Given the description of an element on the screen output the (x, y) to click on. 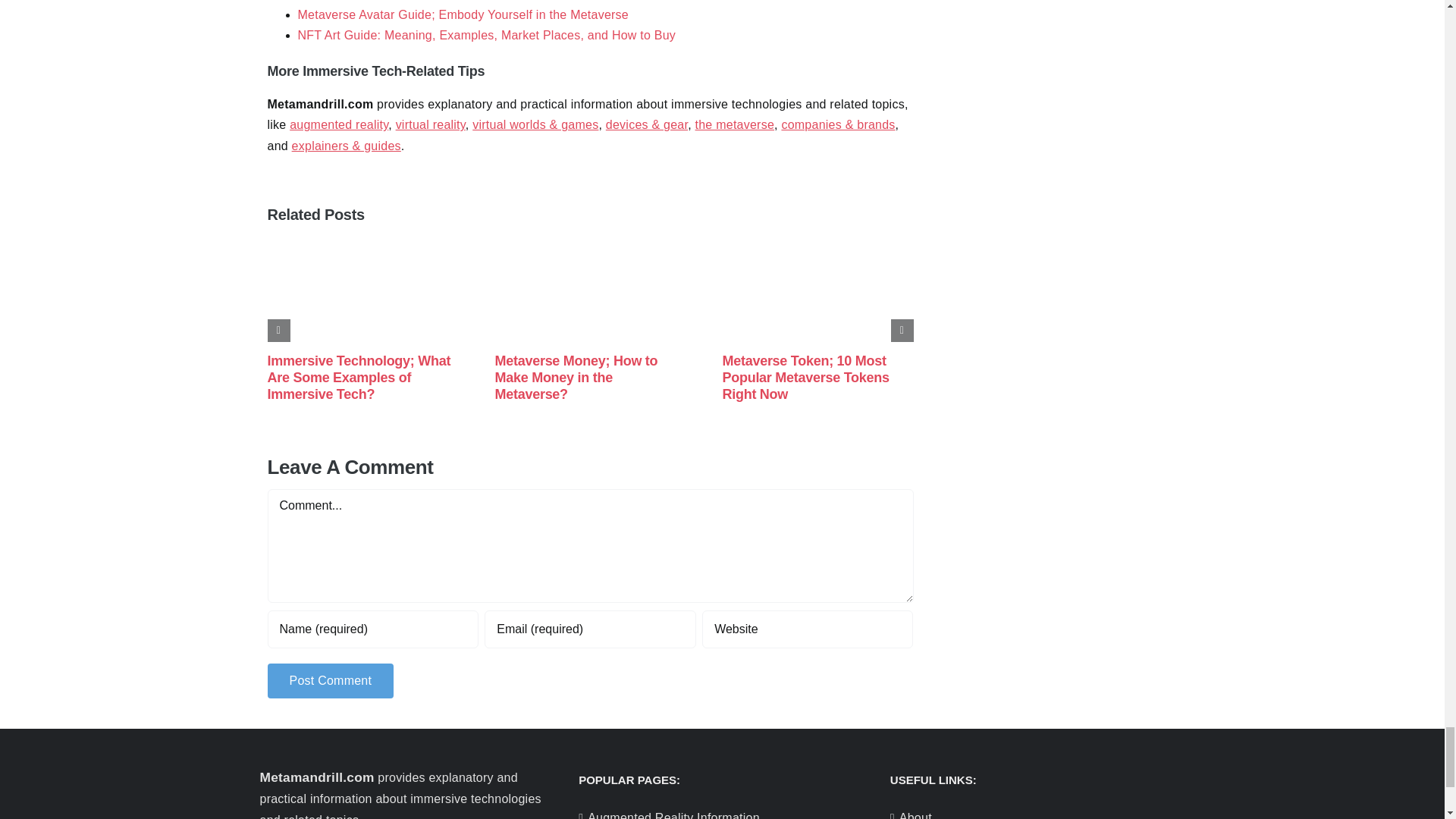
Post Comment (329, 680)
